Given the description of an element on the screen output the (x, y) to click on. 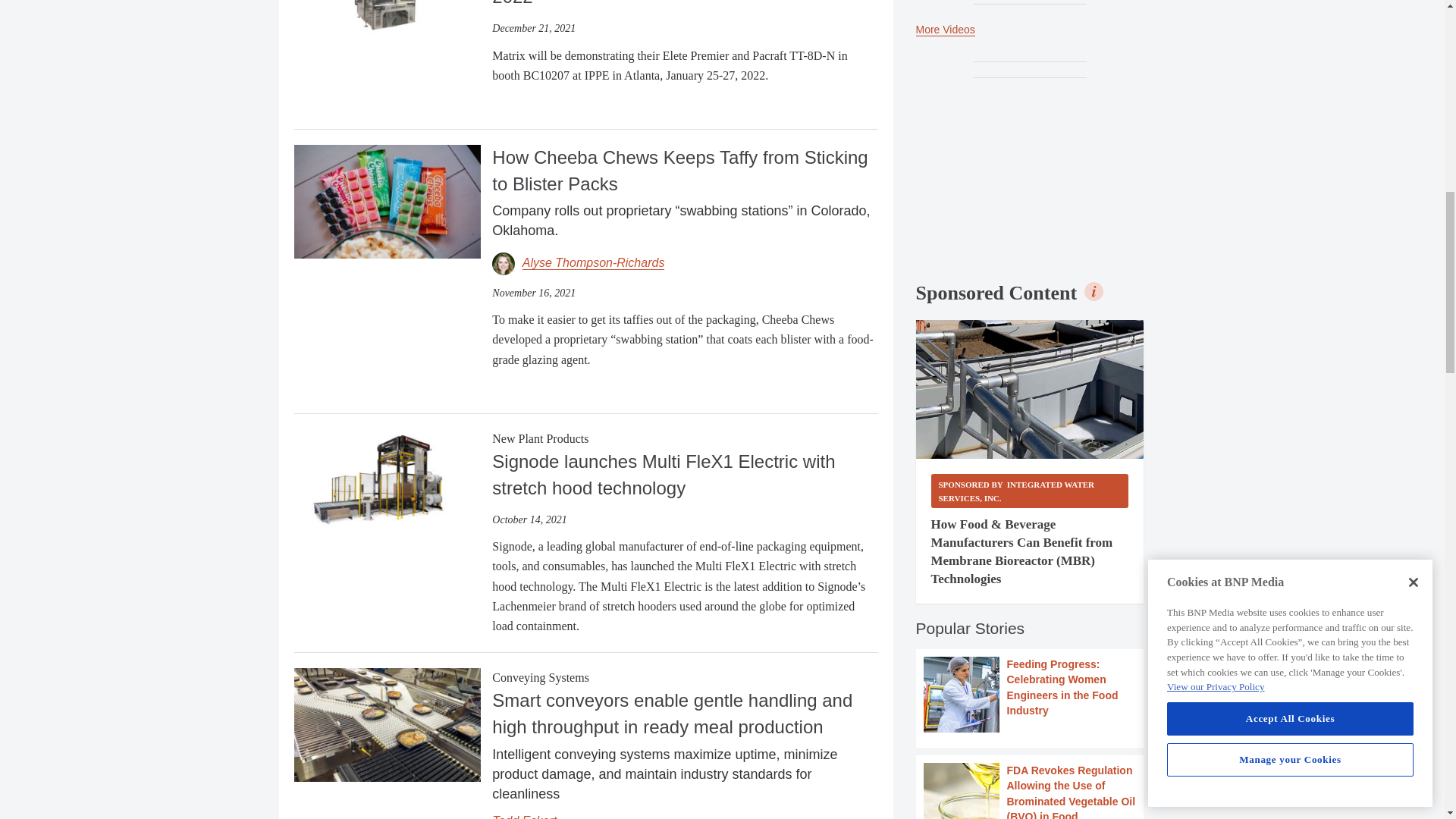
Cheeba Chews packaging (387, 201)
Conveying ready-to-eat meals through production processes (387, 725)
How Cheeba Chews Keeps Taffy from Sticking to Blister Packs (387, 200)
Matrix Elete Premier rsz.jpg (387, 18)
mfx1-elec-full-bricks-0849-v2021-1-1920x1080.jpg (387, 486)
